Given the description of an element on the screen output the (x, y) to click on. 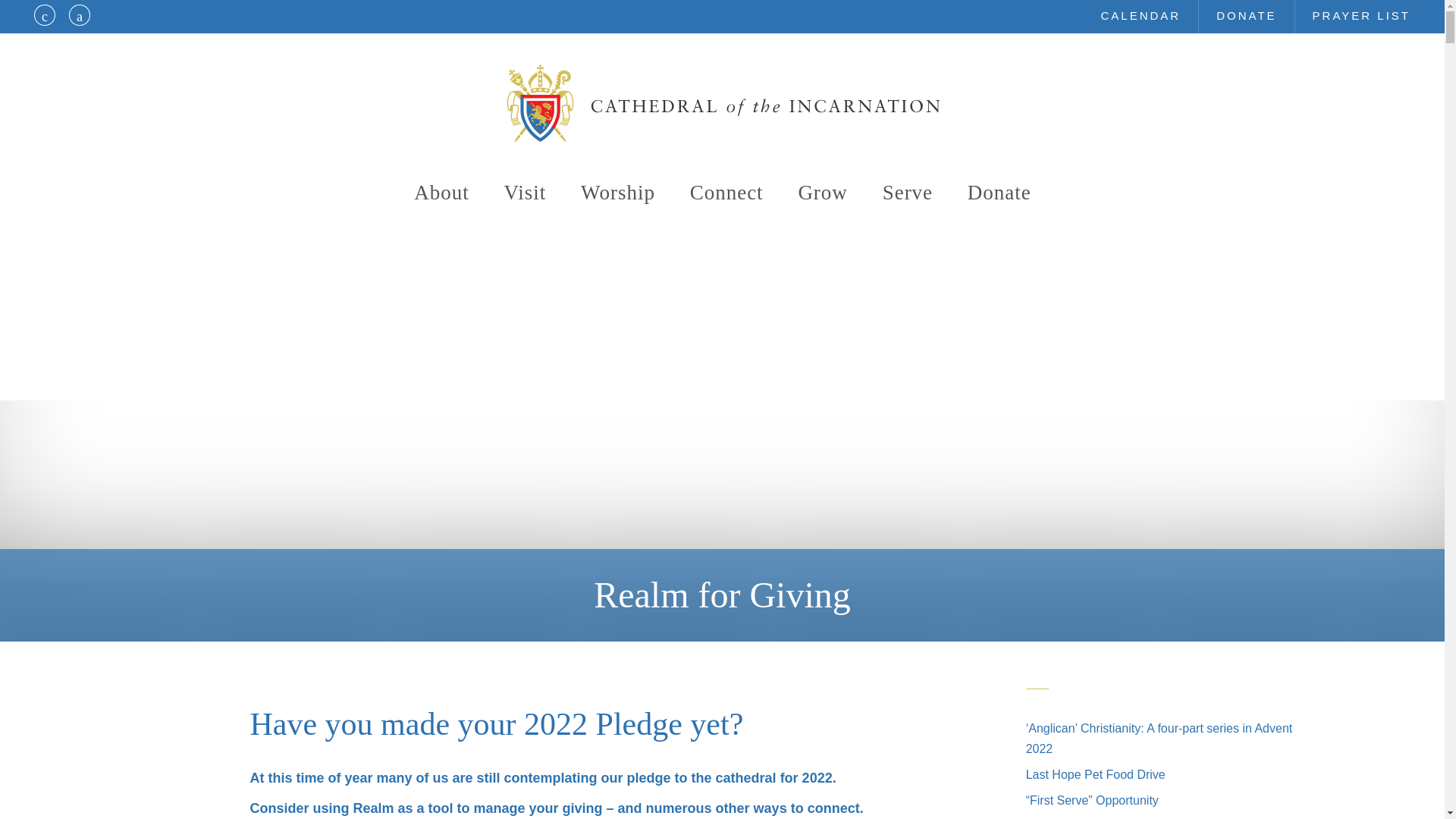
instagram link (79, 15)
Grow (822, 192)
CALENDAR (1140, 16)
Connect (726, 192)
Visit (524, 192)
Worship (617, 192)
DONATE (1246, 16)
About (440, 192)
PRAYER LIST (1361, 16)
facebook link (44, 15)
